Given the description of an element on the screen output the (x, y) to click on. 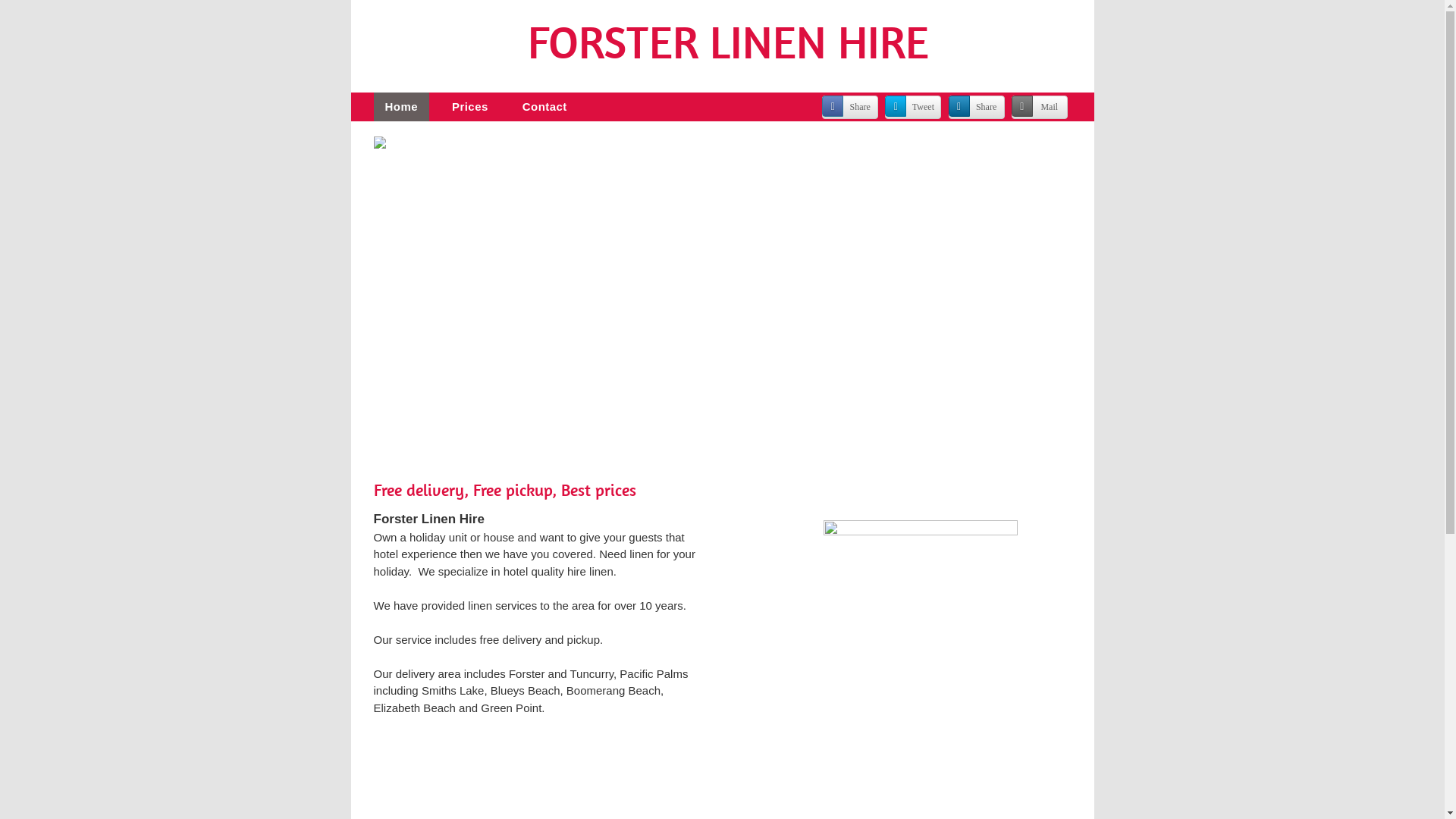
Home Element type: text (400, 107)
Prices Element type: text (469, 107)
Contact Element type: text (544, 107)
